Given the description of an element on the screen output the (x, y) to click on. 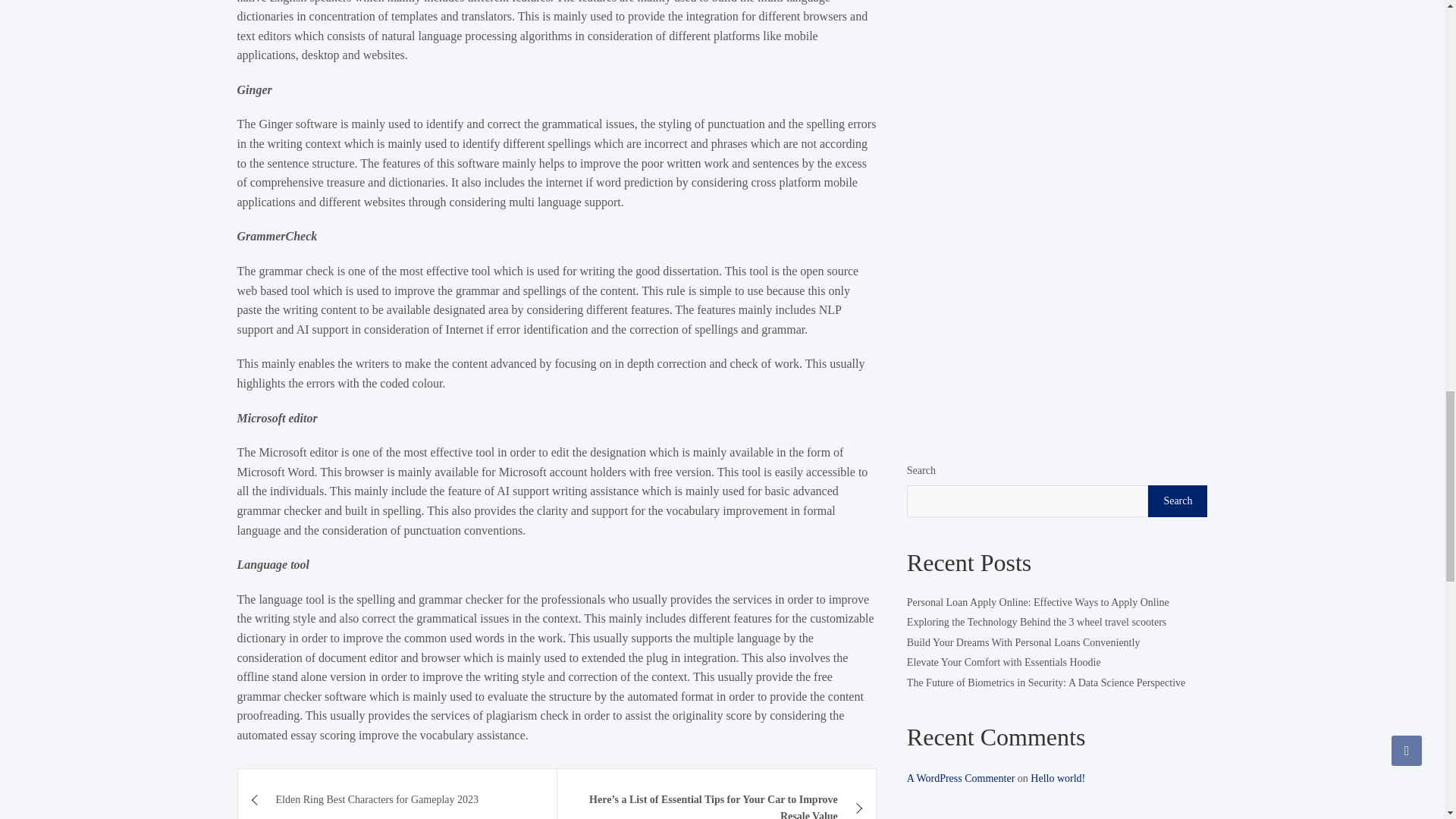
Elden Ring Best Characters for Gameplay 2023 (397, 794)
